Given the description of an element on the screen output the (x, y) to click on. 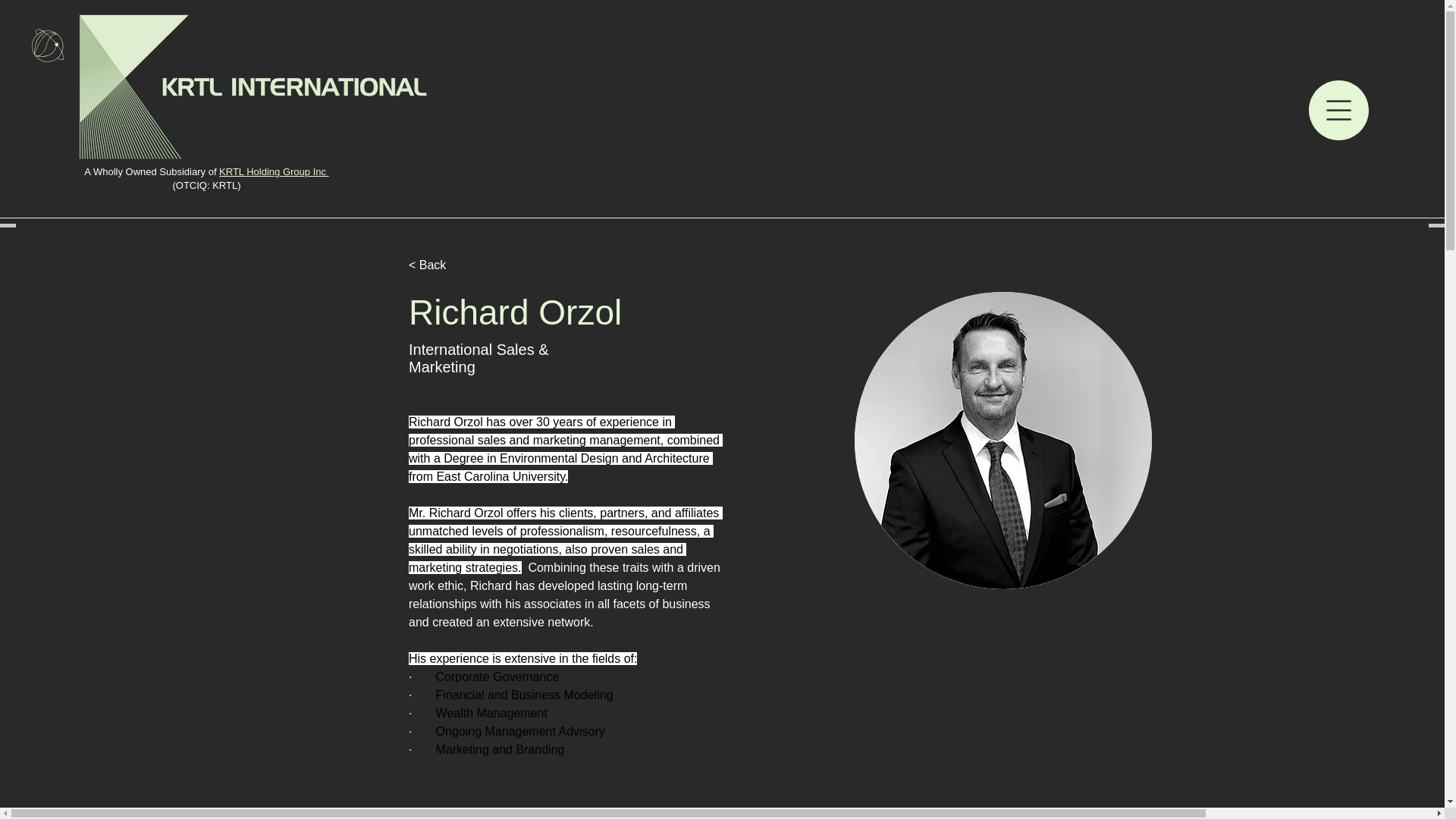
KRTL Holding Group Inc  (274, 171)
